Given the description of an element on the screen output the (x, y) to click on. 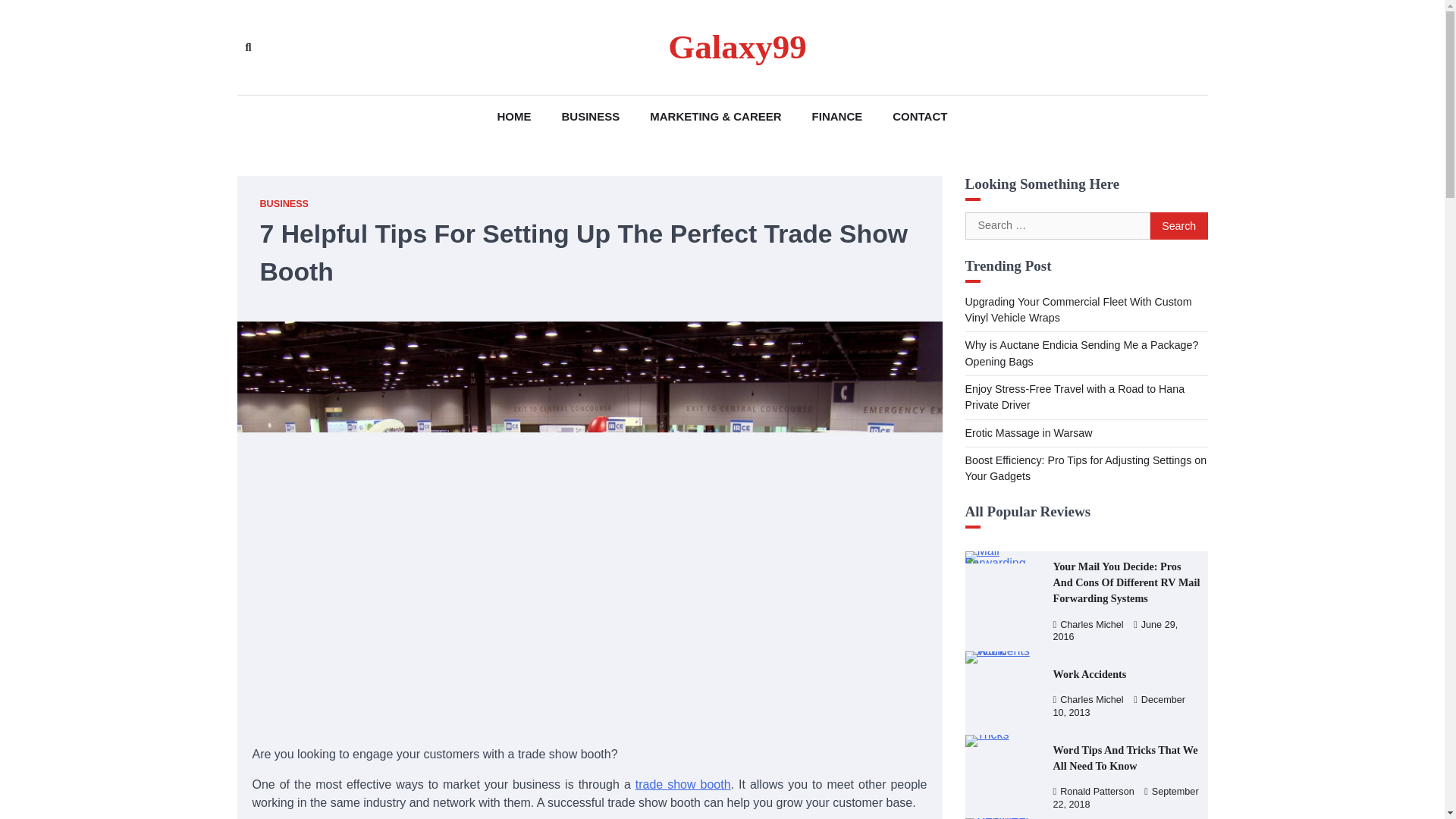
HOME (514, 116)
BUSINESS (590, 116)
Charles Michel (1087, 624)
June 29, 2016 (1114, 630)
Search (1179, 225)
Galaxy99 (737, 47)
Erotic Massage in Warsaw (1027, 432)
BUSINESS (283, 204)
Search (443, 82)
